Given the description of an element on the screen output the (x, y) to click on. 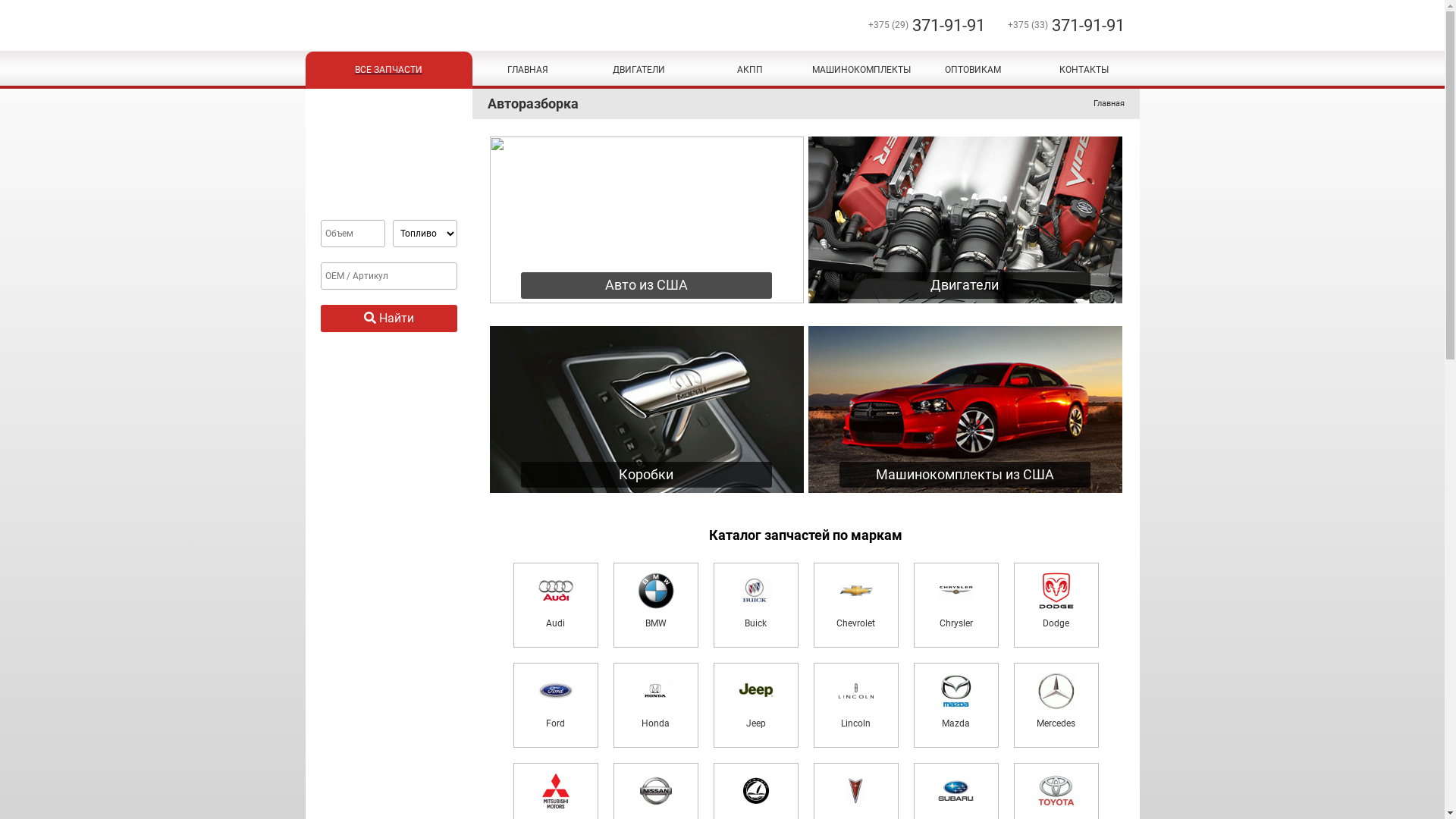
Jeep Element type: text (755, 705)
Lincoln Element type: text (855, 705)
Mercedes Element type: text (1055, 705)
+375 (33)
371-91-91 Element type: text (1053, 25)
Chrysler Element type: text (955, 605)
Chevrolet Element type: text (855, 605)
Ford Element type: text (555, 705)
Mazda Element type: text (955, 705)
Buick Element type: text (755, 605)
BMW Element type: text (655, 605)
Honda Element type: text (655, 705)
Audi Element type: text (555, 605)
Dodge Element type: text (1055, 605)
+375 (29)
371-91-91 Element type: text (914, 25)
